Given the description of an element on the screen output the (x, y) to click on. 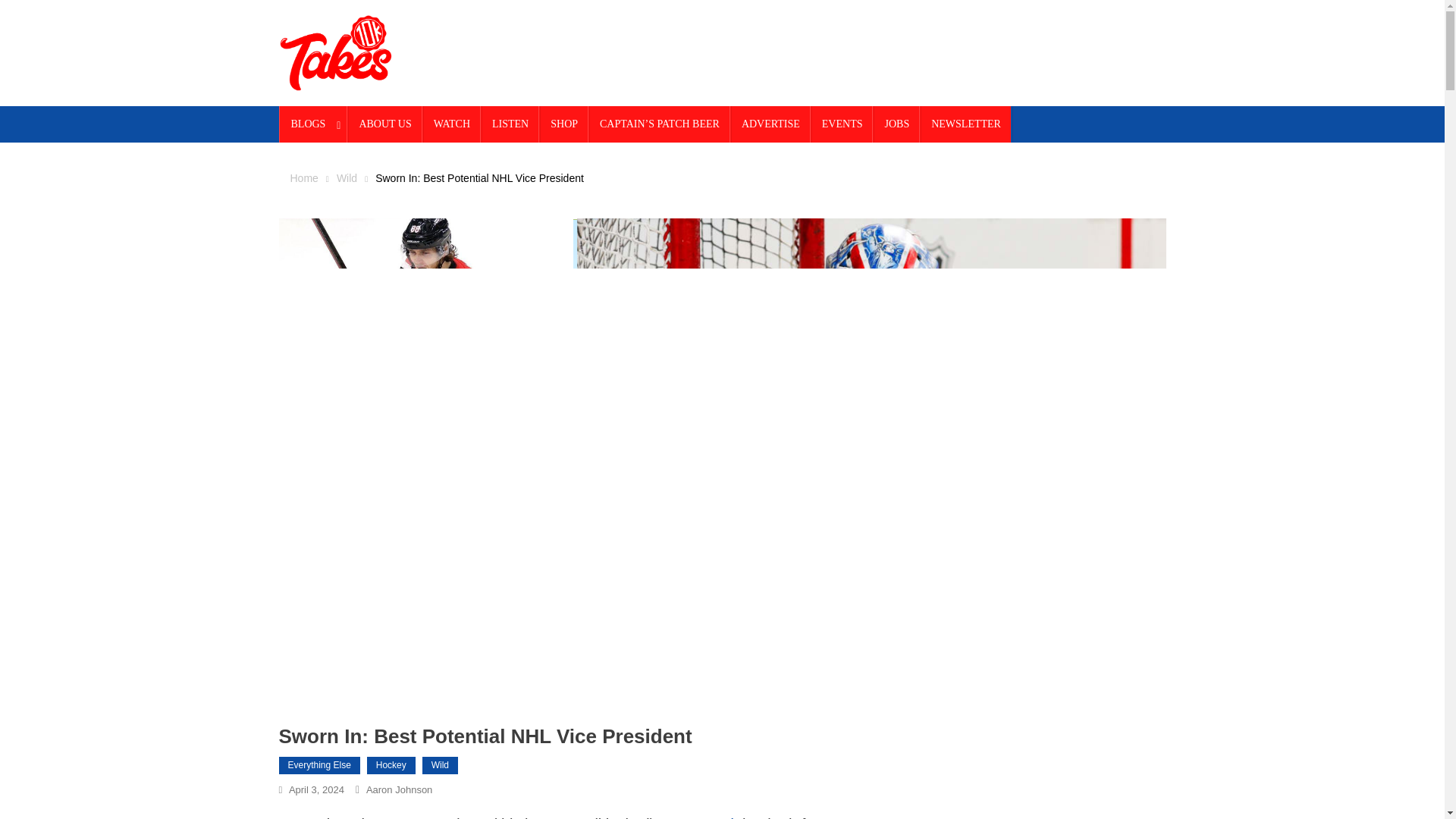
ADVERTISE (770, 124)
Wild (346, 177)
EVENTS (842, 124)
JOBS (896, 124)
Aaron Johnson (399, 789)
NEWSLETTER (965, 124)
BLOGS (314, 124)
WATCH (451, 124)
ABOUT US (384, 124)
Everything Else (319, 765)
